Given the description of an element on the screen output the (x, y) to click on. 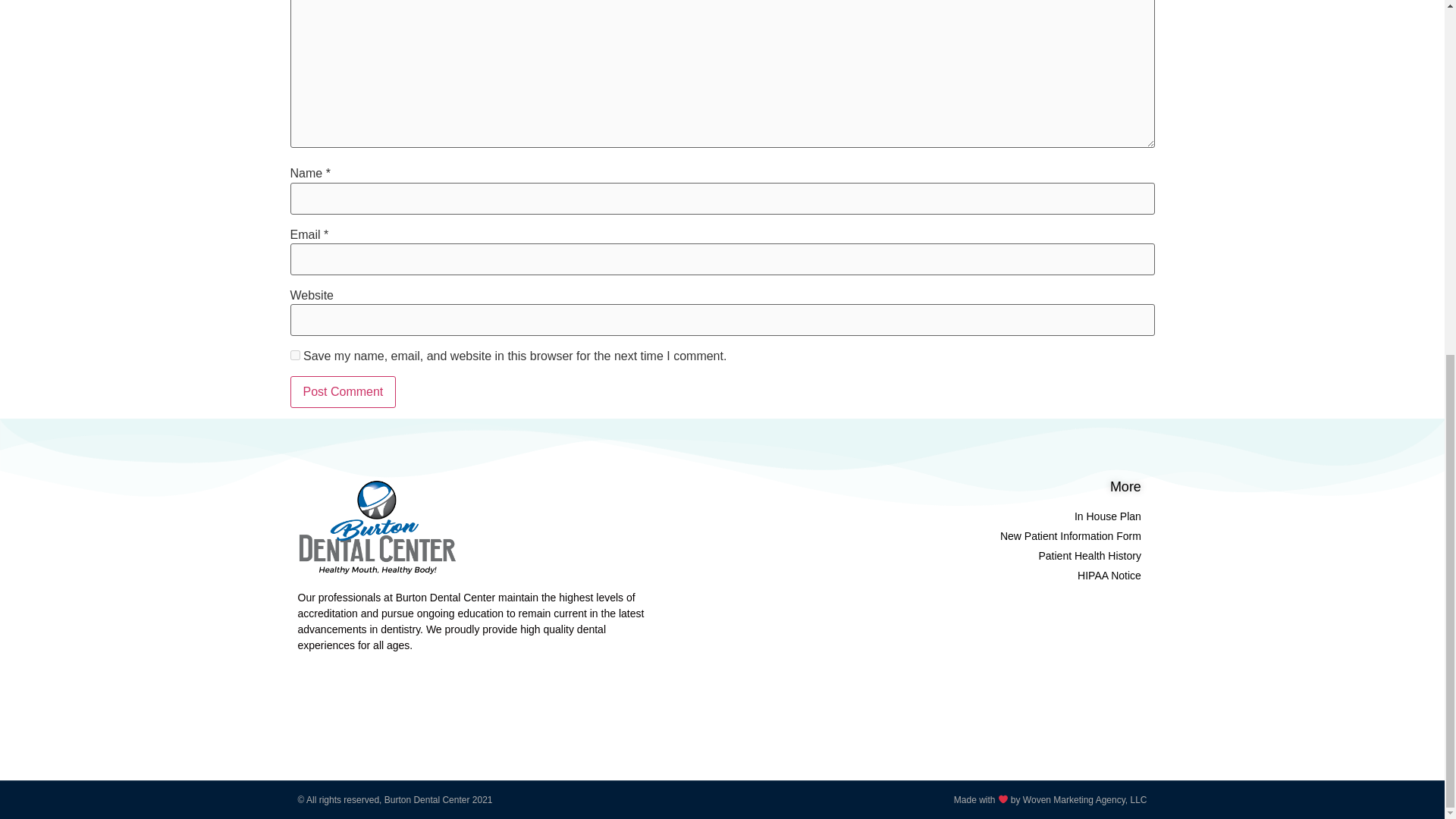
Post Comment (342, 391)
yes (294, 355)
